Given the description of an element on the screen output the (x, y) to click on. 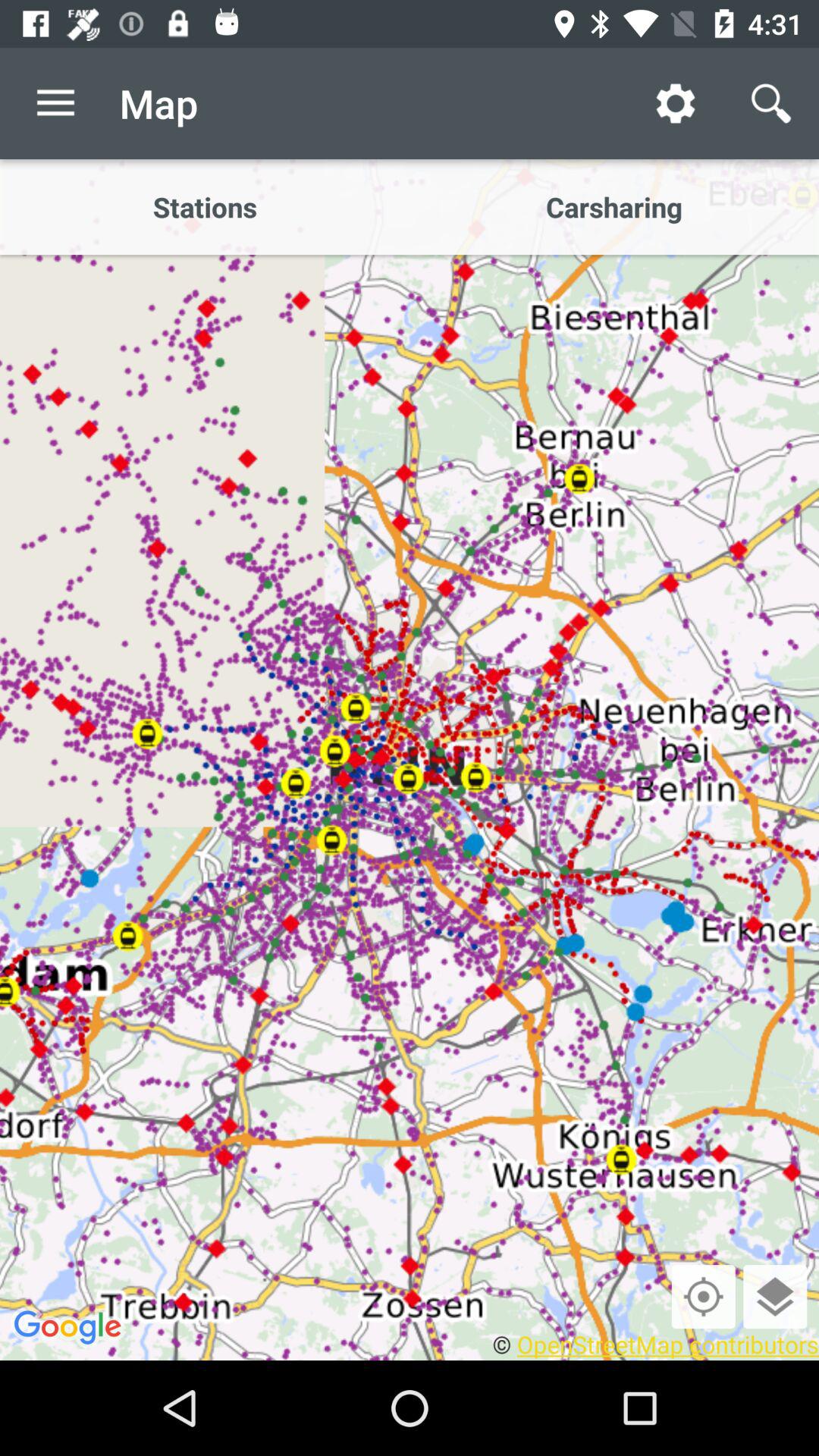
go to my location (703, 1296)
